Given the description of an element on the screen output the (x, y) to click on. 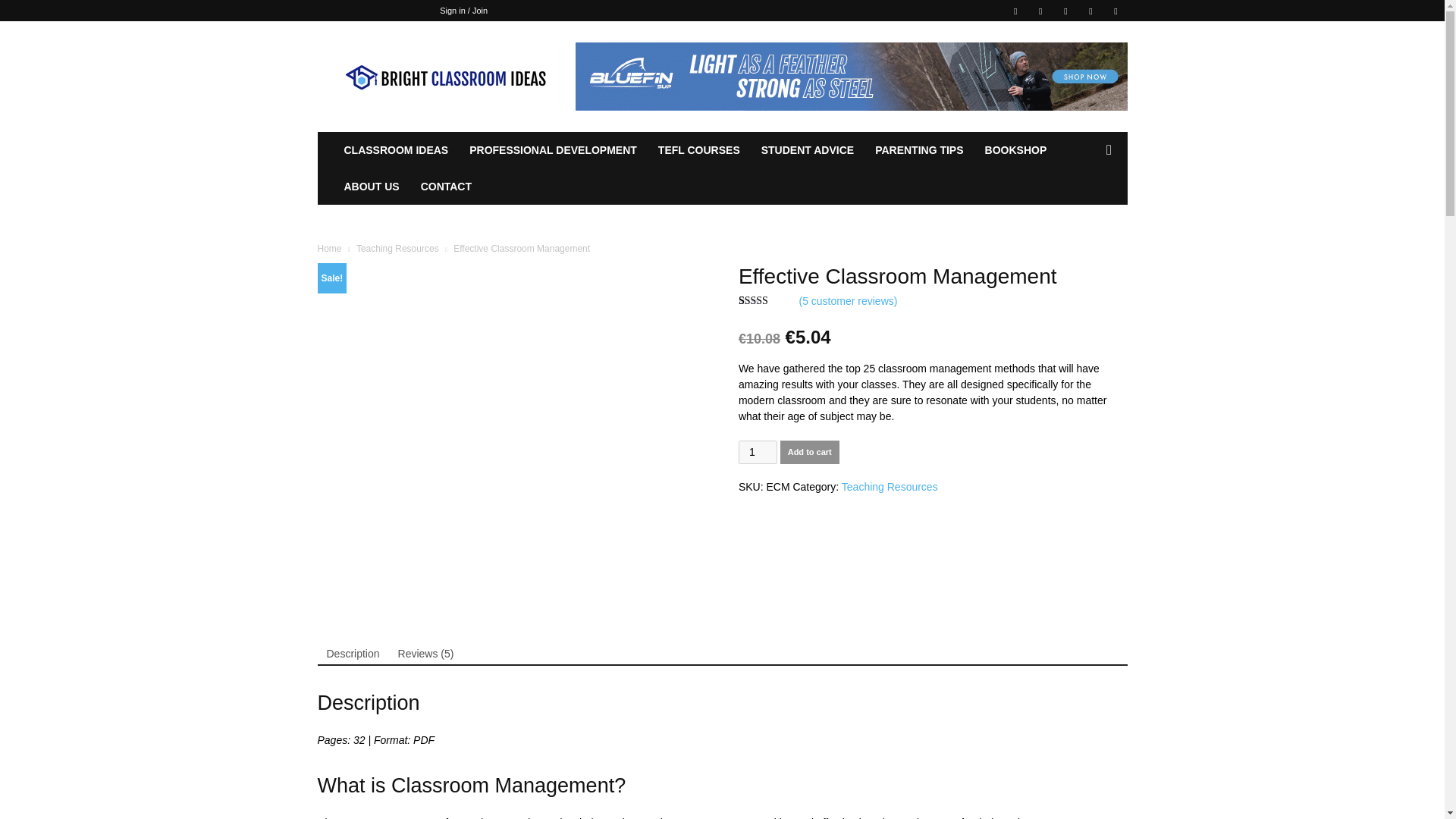
Facebook (1015, 10)
Ideas you can take to class today (445, 76)
Youtube (1114, 10)
Twitter (1090, 10)
Linkedin (1040, 10)
1 (757, 452)
Pinterest (1065, 10)
